Given the description of an element on the screen output the (x, y) to click on. 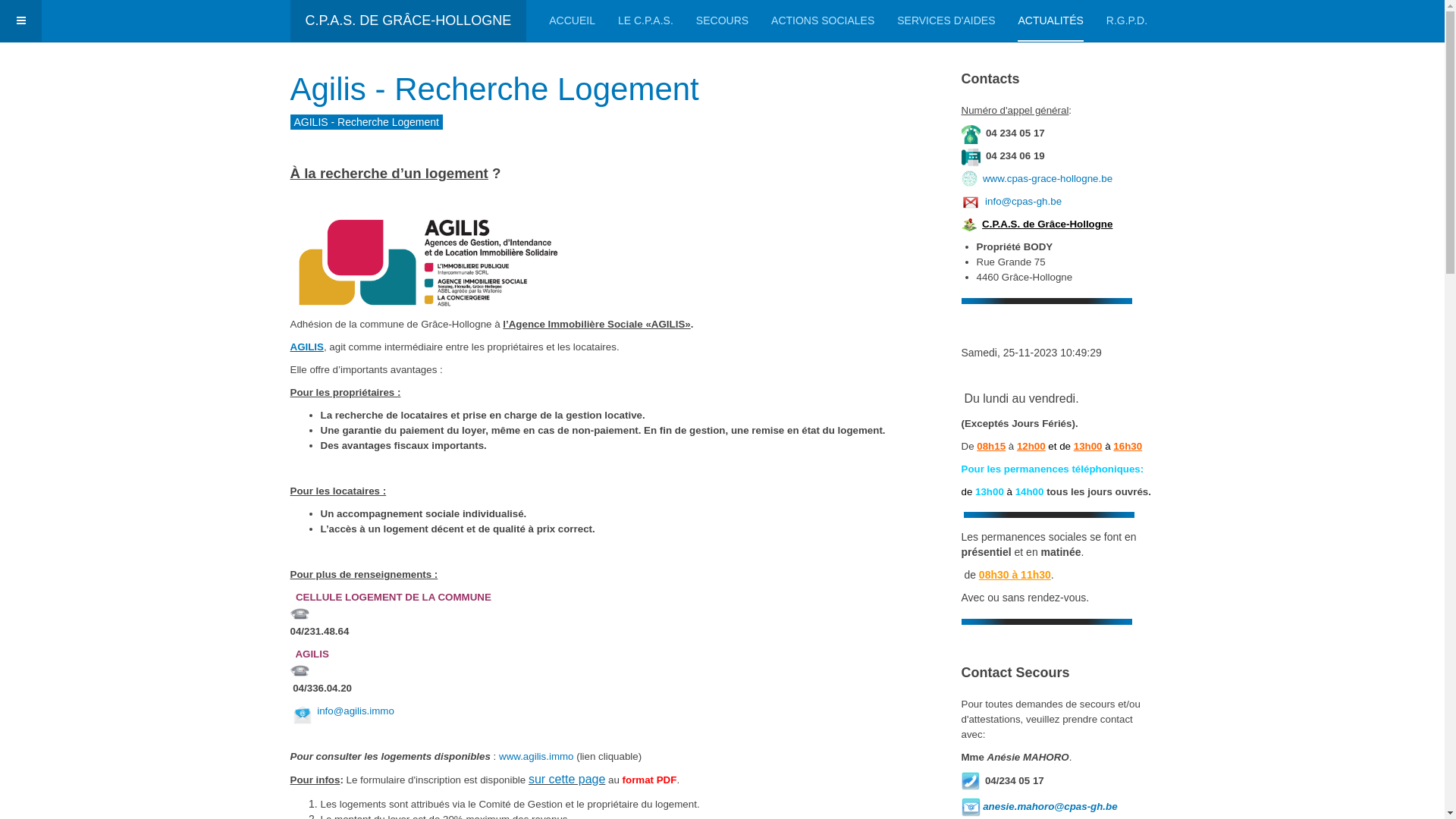
Tel Element type: hover (298, 670)
ACTIONS SOCIALES Element type: text (822, 20)
anesie.mahoro@cpas-gh.be Element type: text (1049, 806)
info@cpas-gh.be Element type: text (1023, 201)
AGILIS Element type: text (306, 346)
www.agilis.immo Element type: text (536, 756)
Agilis - Recherche Logement Element type: text (493, 88)
Tel Element type: hover (298, 613)
sur cette page Element type: text (566, 778)
SECOURS Element type: text (722, 20)
www.cpas-grace-hollogne.be Element type: text (1047, 178)
R.G.P.D. Element type: text (1126, 20)
ACCUEIL Element type: text (572, 20)
info@agilis.immo Element type: text (355, 710)
SERVICES D'AIDES Element type: text (945, 20)
LE C.P.A.S. Element type: text (645, 20)
AGILIS - Recherche Logement Element type: text (365, 121)
